Given the description of an element on the screen output the (x, y) to click on. 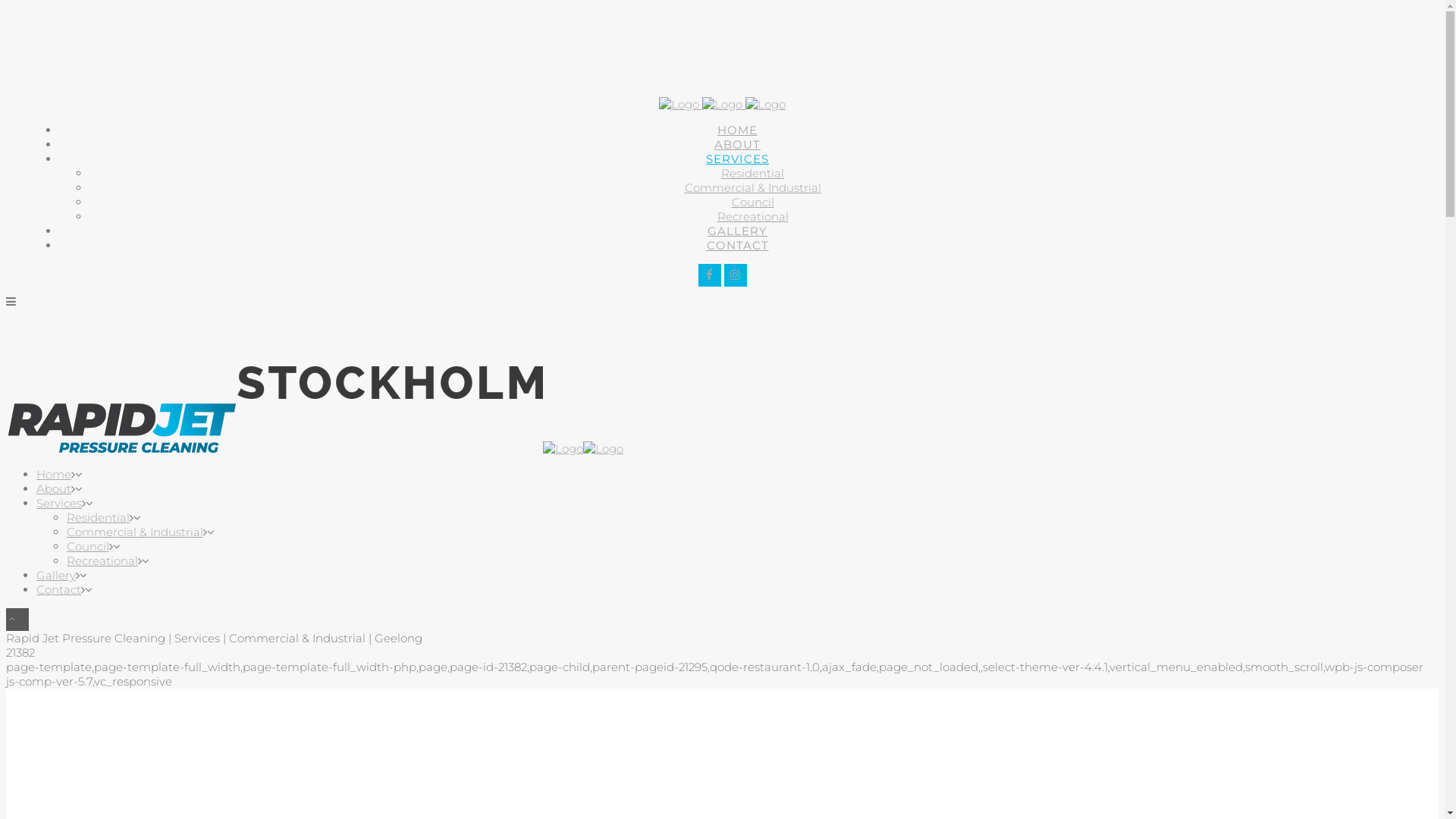
SERVICES Element type: text (737, 158)
HOME Element type: text (737, 129)
Gallery Element type: text (55, 574)
Recreational Element type: text (752, 216)
Commercial & Industrial Element type: text (134, 531)
Council Element type: text (87, 546)
About Element type: text (53, 488)
Services Element type: text (58, 502)
Contact Element type: text (58, 589)
Residential Element type: text (752, 173)
GALLERY Element type: text (737, 230)
Home Element type: text (53, 474)
ABOUT Element type: text (737, 144)
Recreational Element type: text (102, 560)
CONTACT Element type: text (737, 245)
Residential Element type: text (97, 517)
Commercial & Industrial Element type: text (752, 187)
Council Element type: text (752, 201)
